Given the description of an element on the screen output the (x, y) to click on. 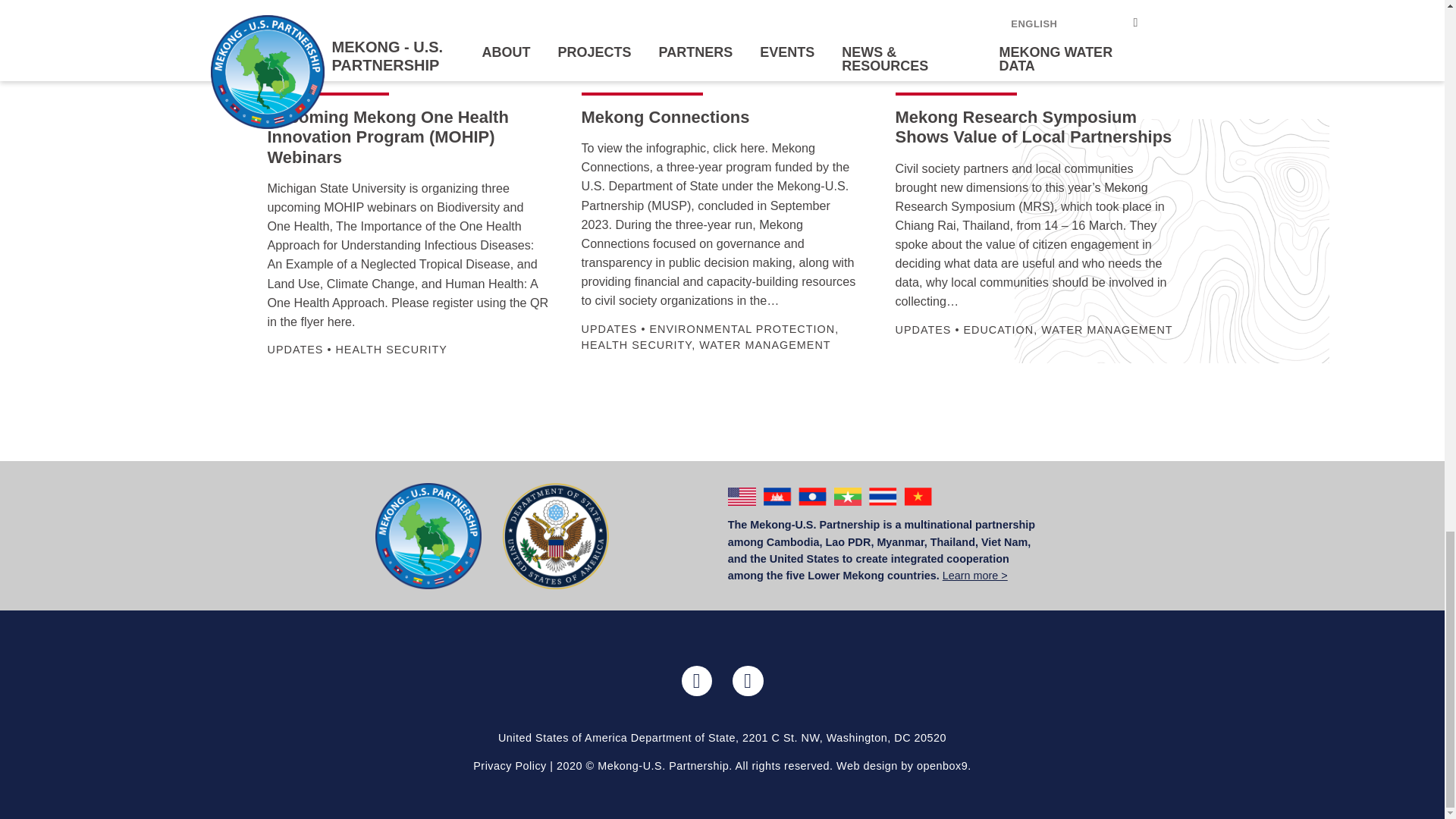
WATER MANAGEMENT (1107, 329)
Mekong Research Symposium Shows Value of Local Partnerships (1033, 126)
EDUCATION (997, 329)
UPDATES (922, 329)
HEALTH SECURITY (635, 345)
ENVIRONMENTAL PROTECTION (741, 328)
UPDATES (608, 328)
HEALTH SECURITY (390, 349)
Mekong Connections (664, 116)
WATER MANAGEMENT (764, 345)
